Given the description of an element on the screen output the (x, y) to click on. 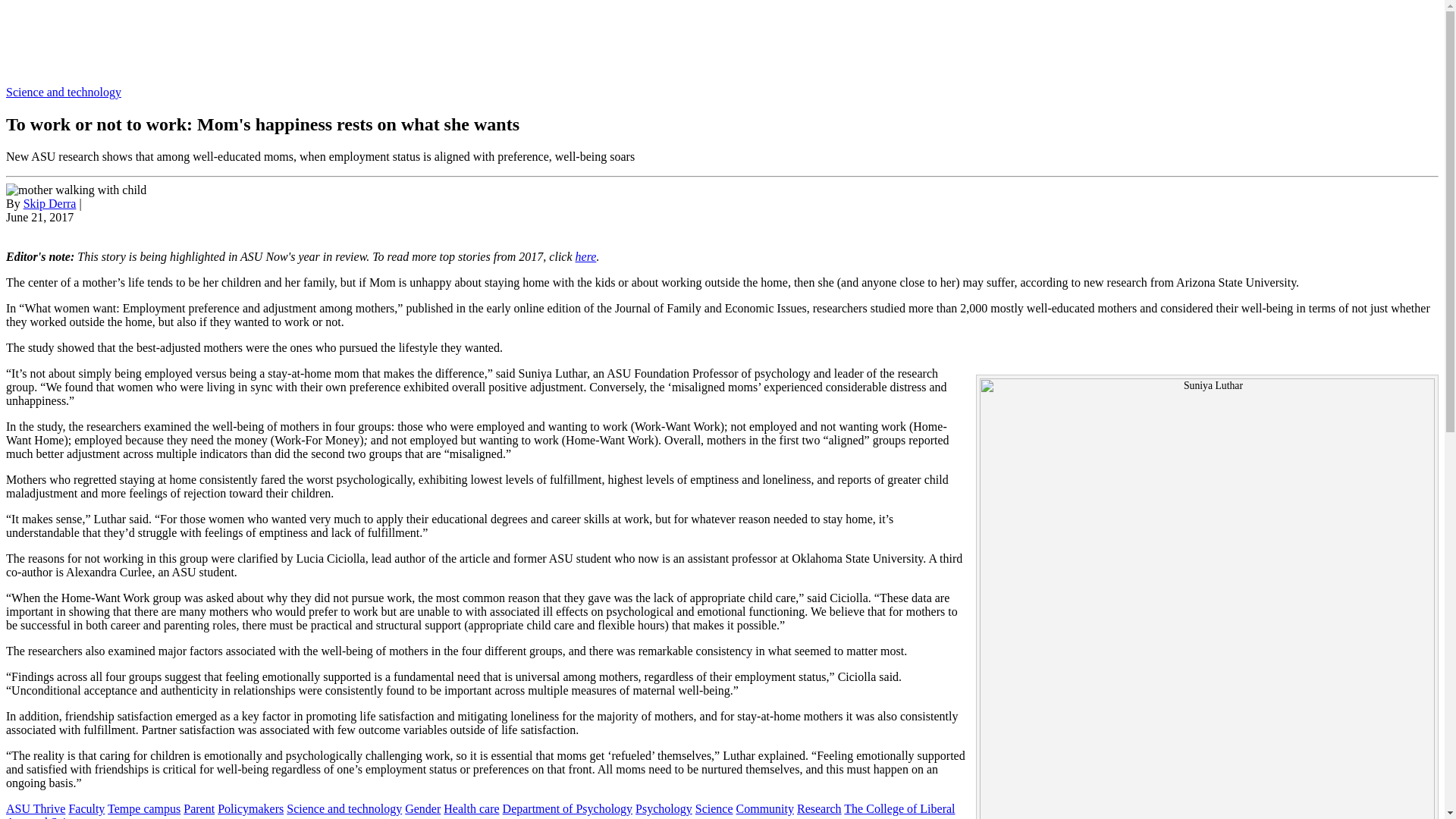
Tempe campus (143, 808)
Policymakers (249, 808)
here (585, 256)
Gender (422, 808)
Psychology (663, 808)
Parent (198, 808)
Community (764, 808)
Science and technology (62, 91)
Faculty (86, 808)
Health care (471, 808)
